Given the description of an element on the screen output the (x, y) to click on. 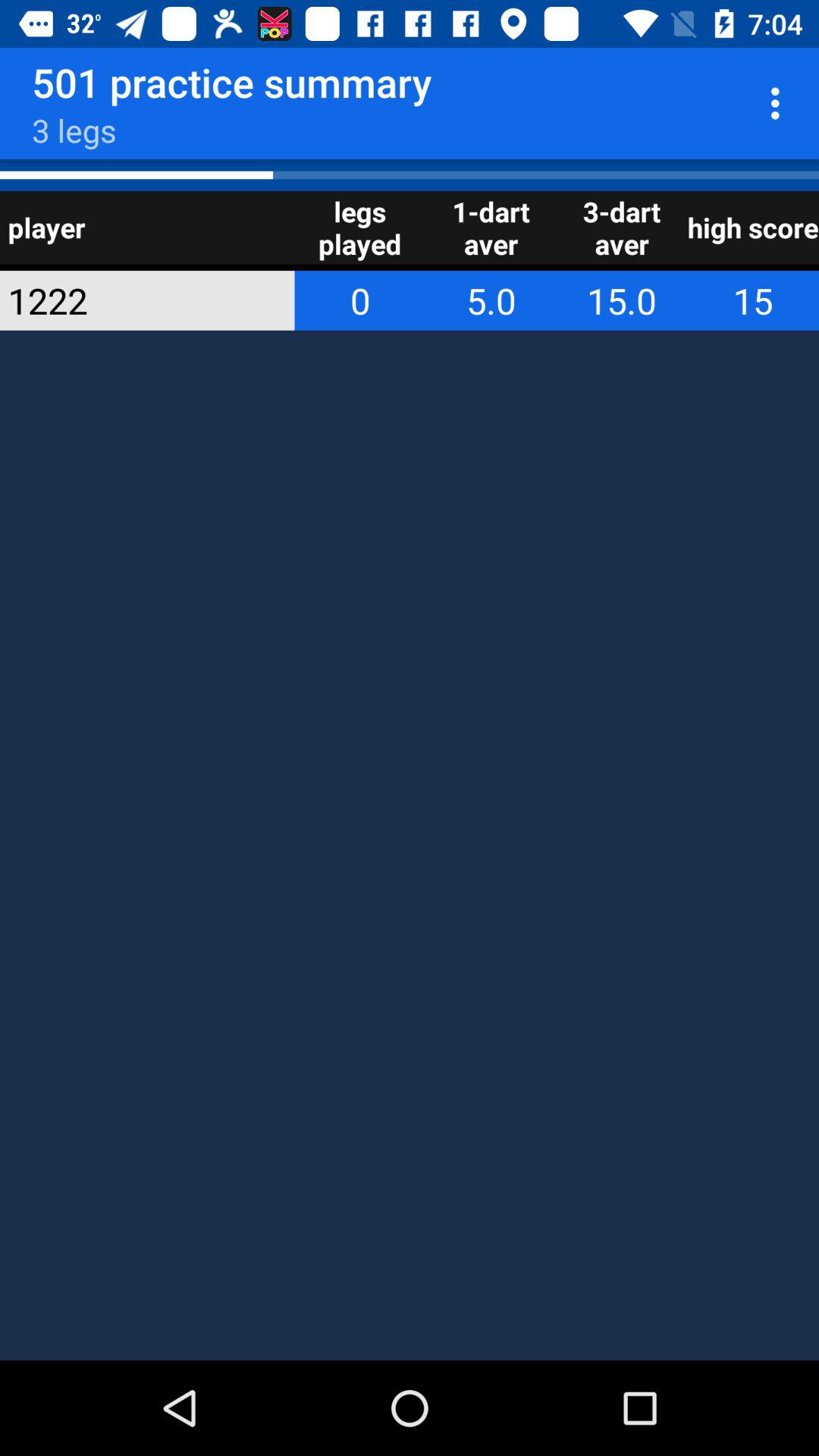
turn off the app next to legs
played (126, 300)
